Given the description of an element on the screen output the (x, y) to click on. 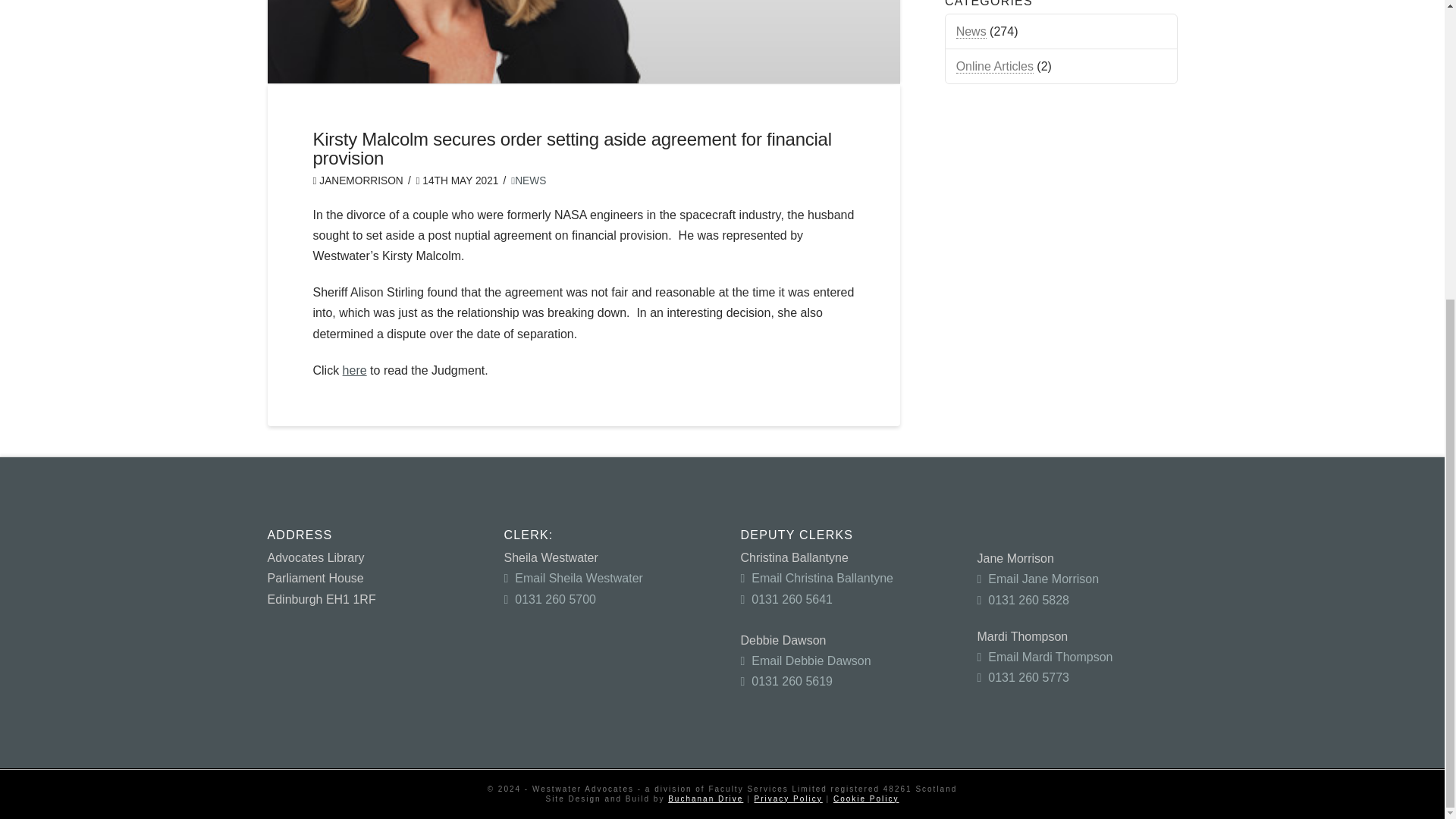
 Email Sheila Westwater (572, 577)
  Email Jane Morrison (1037, 578)
  0131 260 5700 (549, 599)
NEWS (528, 180)
Cookie Policy (865, 798)
Privacy Policy (788, 798)
  0131 260 5619 (785, 680)
here (354, 369)
Buchanan Drive (705, 798)
  Email Debbie Dawson (804, 660)
